Given the description of an element on the screen output the (x, y) to click on. 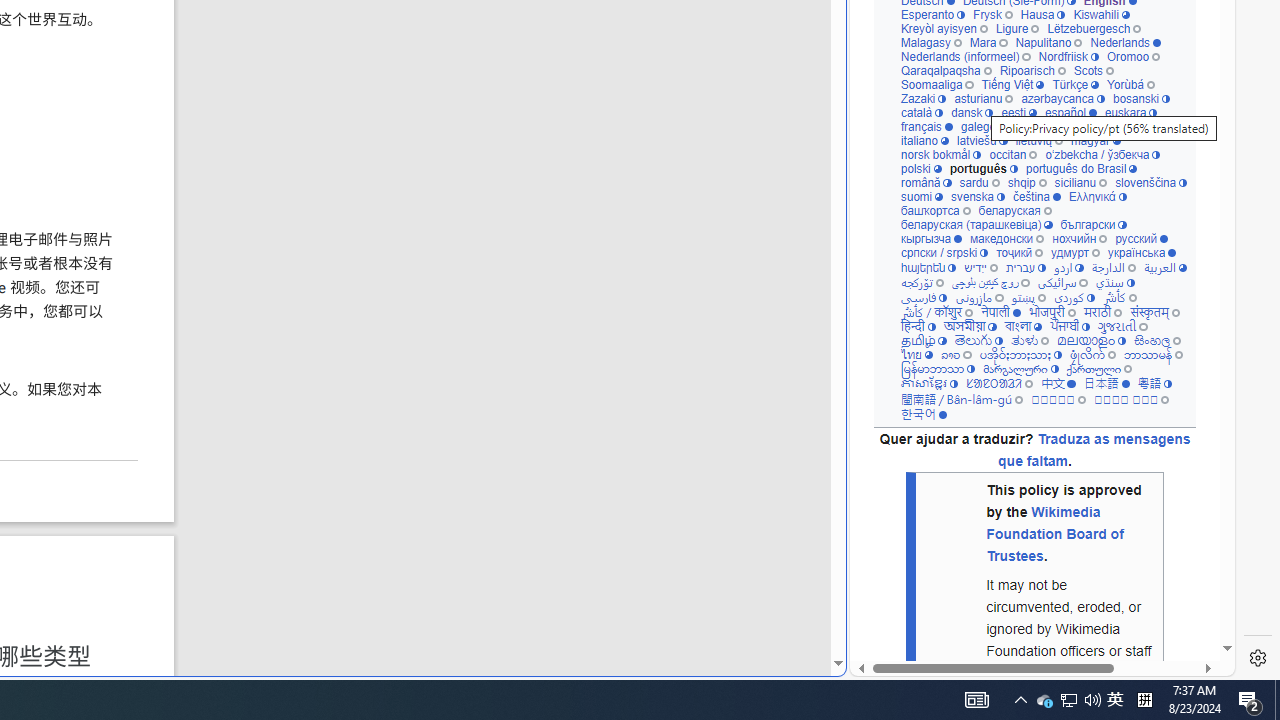
galego (983, 125)
euskara (1130, 112)
magyar (1095, 140)
dansk (972, 112)
asturianu (983, 97)
hrvatski (1040, 125)
Actions for this site (1129, 306)
